Given the description of an element on the screen output the (x, y) to click on. 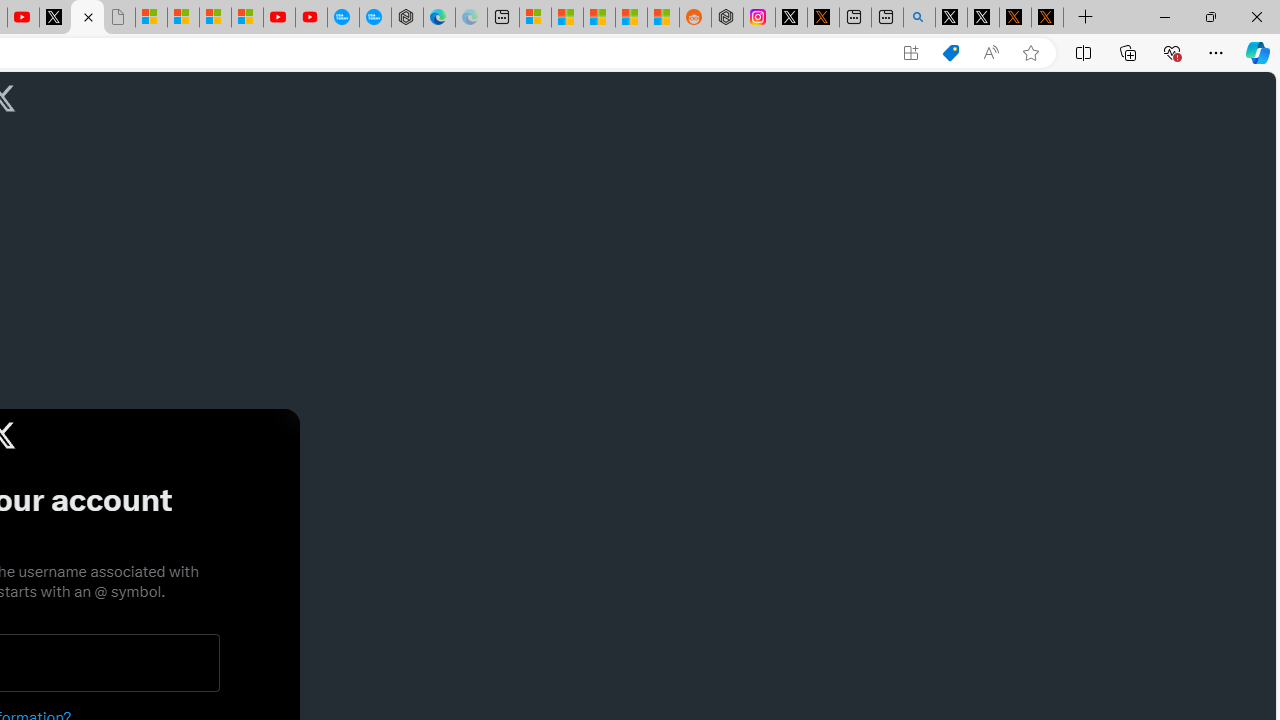
Shanghai, China hourly forecast | Microsoft Weather (599, 17)
YouTube Kids - An App Created for Kids to Explore Content (310, 17)
github - Search (919, 17)
X Privacy Policy (1047, 17)
Untitled (118, 17)
Shopping in Microsoft Edge (950, 53)
